Given the description of an element on the screen output the (x, y) to click on. 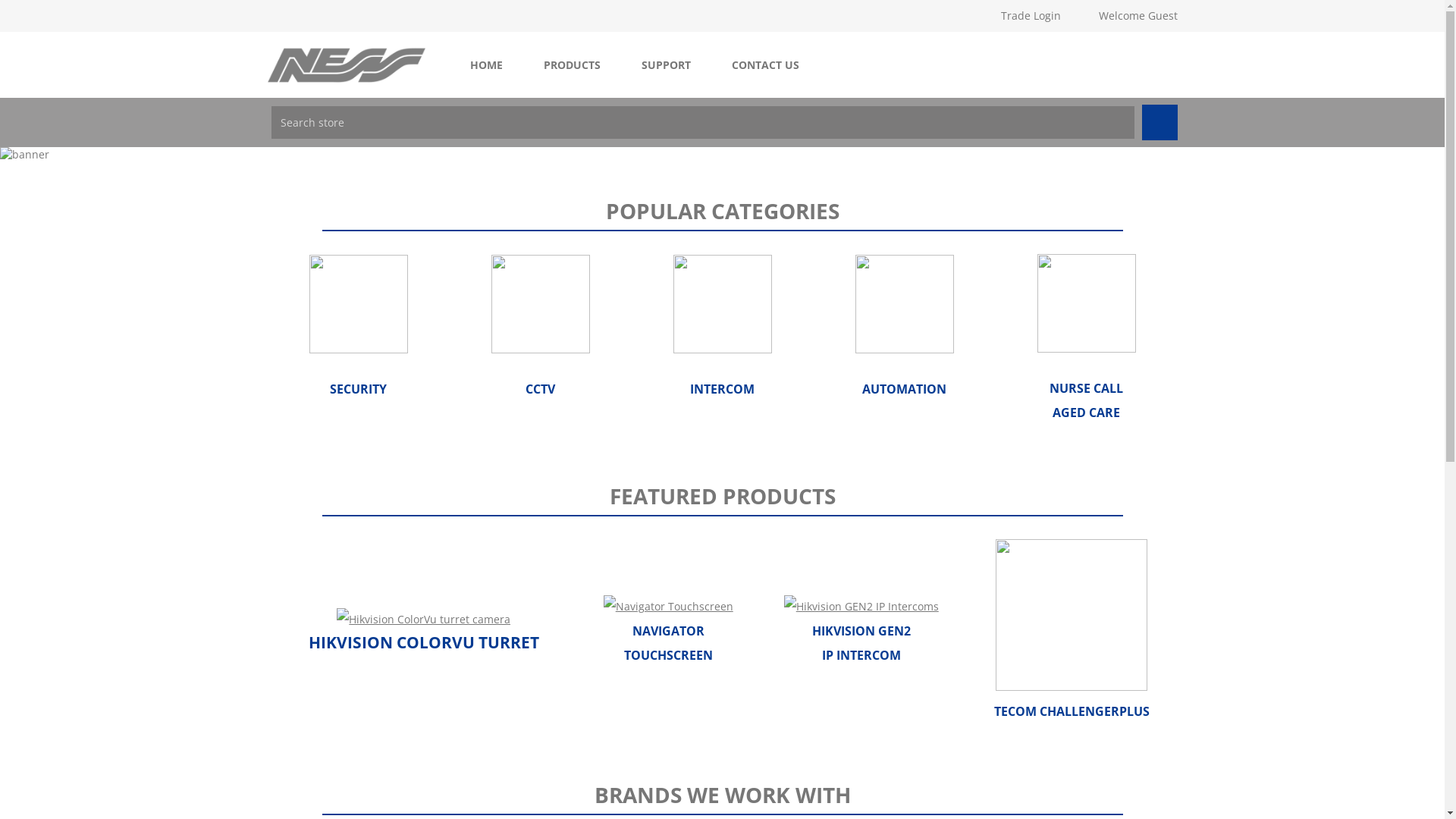
CONTACT US Element type: text (765, 64)
AUTOMATION Element type: text (904, 388)
HOME Element type: text (485, 64)
INTERCOM Element type: text (722, 388)
SECURITY Element type: text (357, 388)
CCTV Element type: text (540, 388)
SUPPORT Element type: text (665, 64)
NAVIGATOR
TOUCHSCREEN Element type: text (668, 642)
HIKVISION COLORVU TURRET Element type: text (423, 641)
AGED CARE Element type: text (1086, 412)
NURSE CALL Element type: text (1086, 387)
HIKVISION GEN2
IP INTERCOM Element type: text (861, 641)
TECOM CHALLENGERPLUS Element type: text (1071, 709)
Search Element type: text (1159, 122)
